Given the description of an element on the screen output the (x, y) to click on. 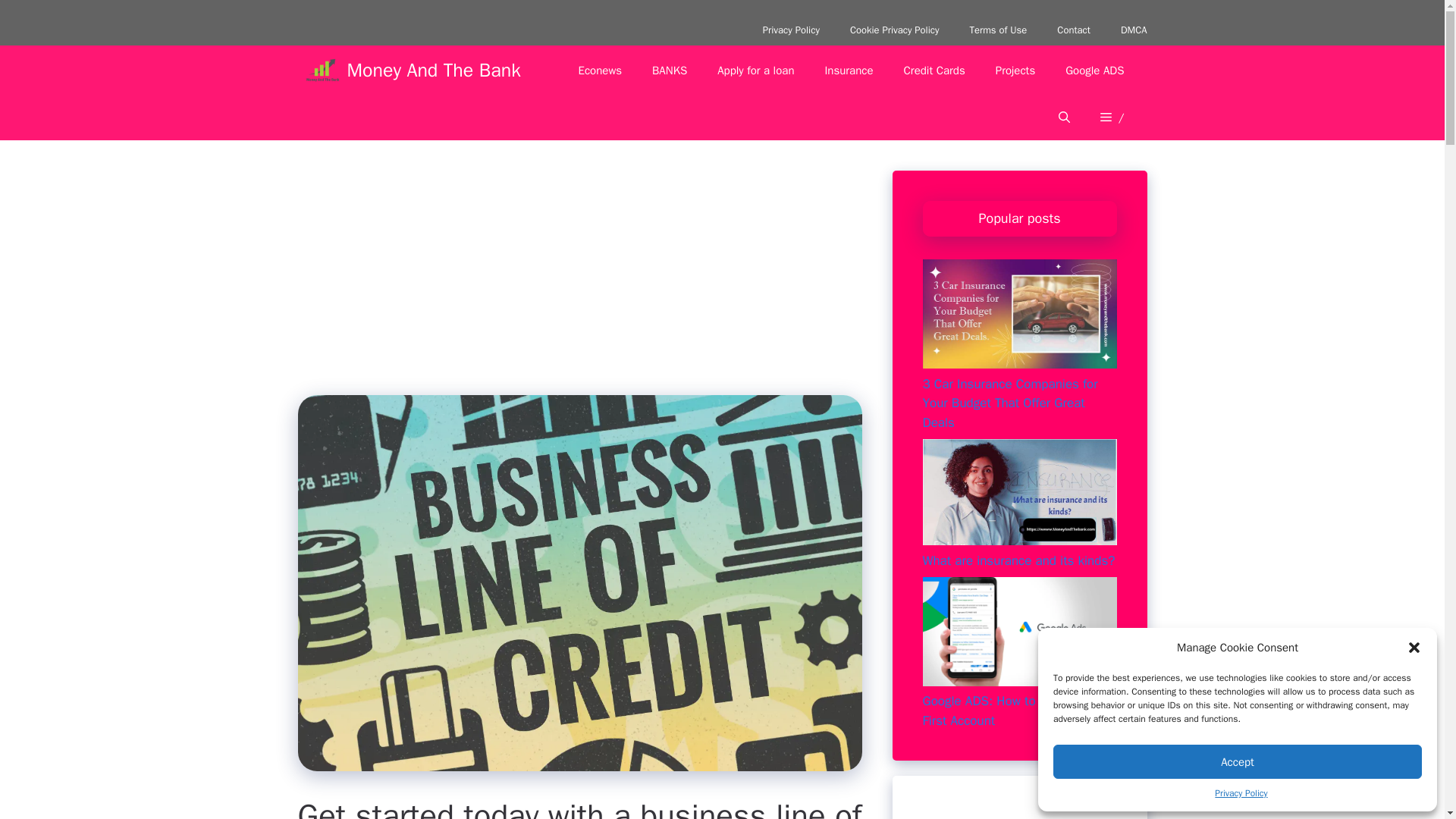
Cookie Privacy Policy (894, 30)
Money And The Bank (434, 70)
Contact (1073, 30)
Google ADS (1093, 69)
Accept (1237, 761)
DMCA (1133, 30)
Privacy Policy (791, 30)
Apply for a loan (755, 69)
Insurance (848, 69)
Privacy Policy (1240, 793)
Terms of Use (997, 30)
Projects (1014, 69)
Econews (600, 69)
Advertisement (591, 282)
Credit Cards (933, 69)
